Given the description of an element on the screen output the (x, y) to click on. 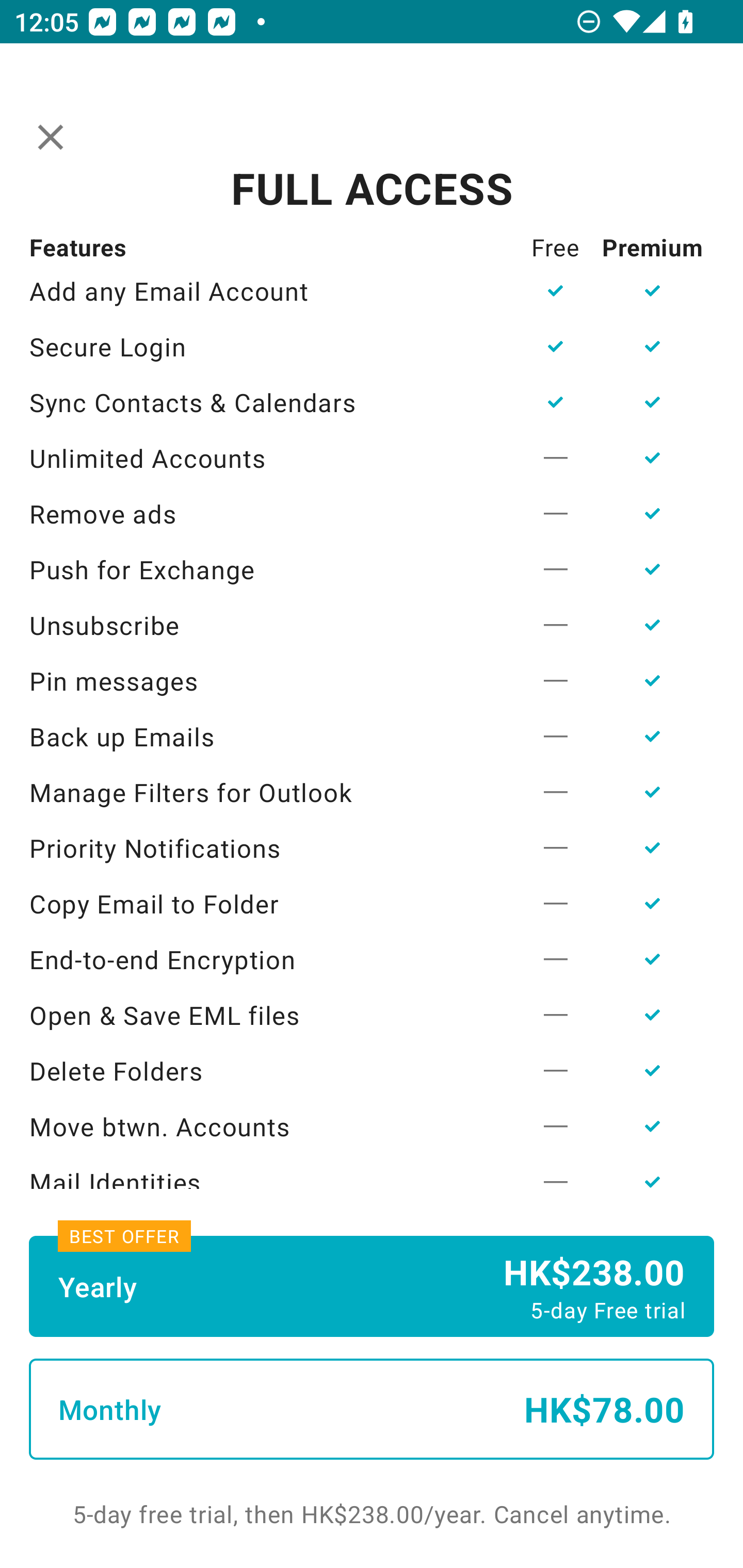
Yearly HK$238.00 5-day Free trial (371, 1286)
Monthly HK$78.00 (371, 1408)
